Given the description of an element on the screen output the (x, y) to click on. 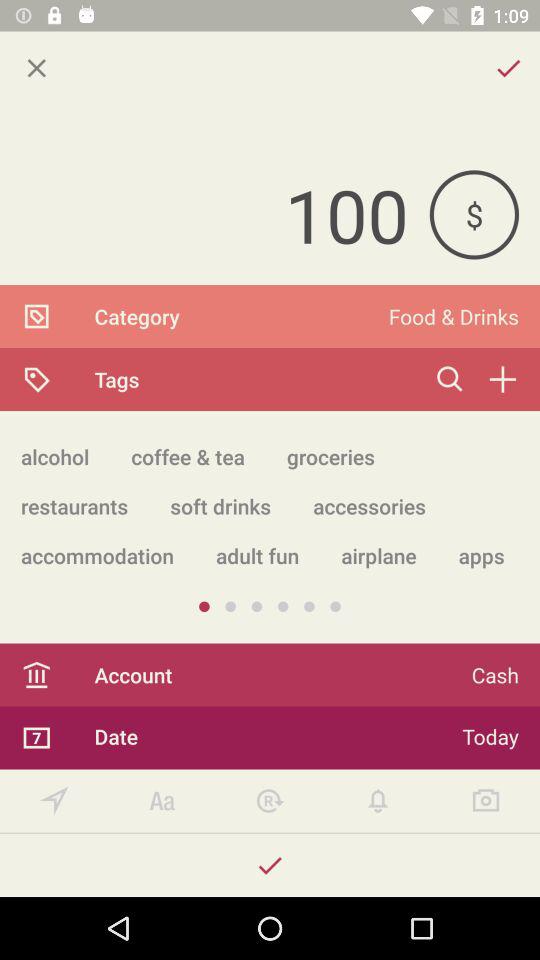
window closeout (36, 68)
